Given the description of an element on the screen output the (x, y) to click on. 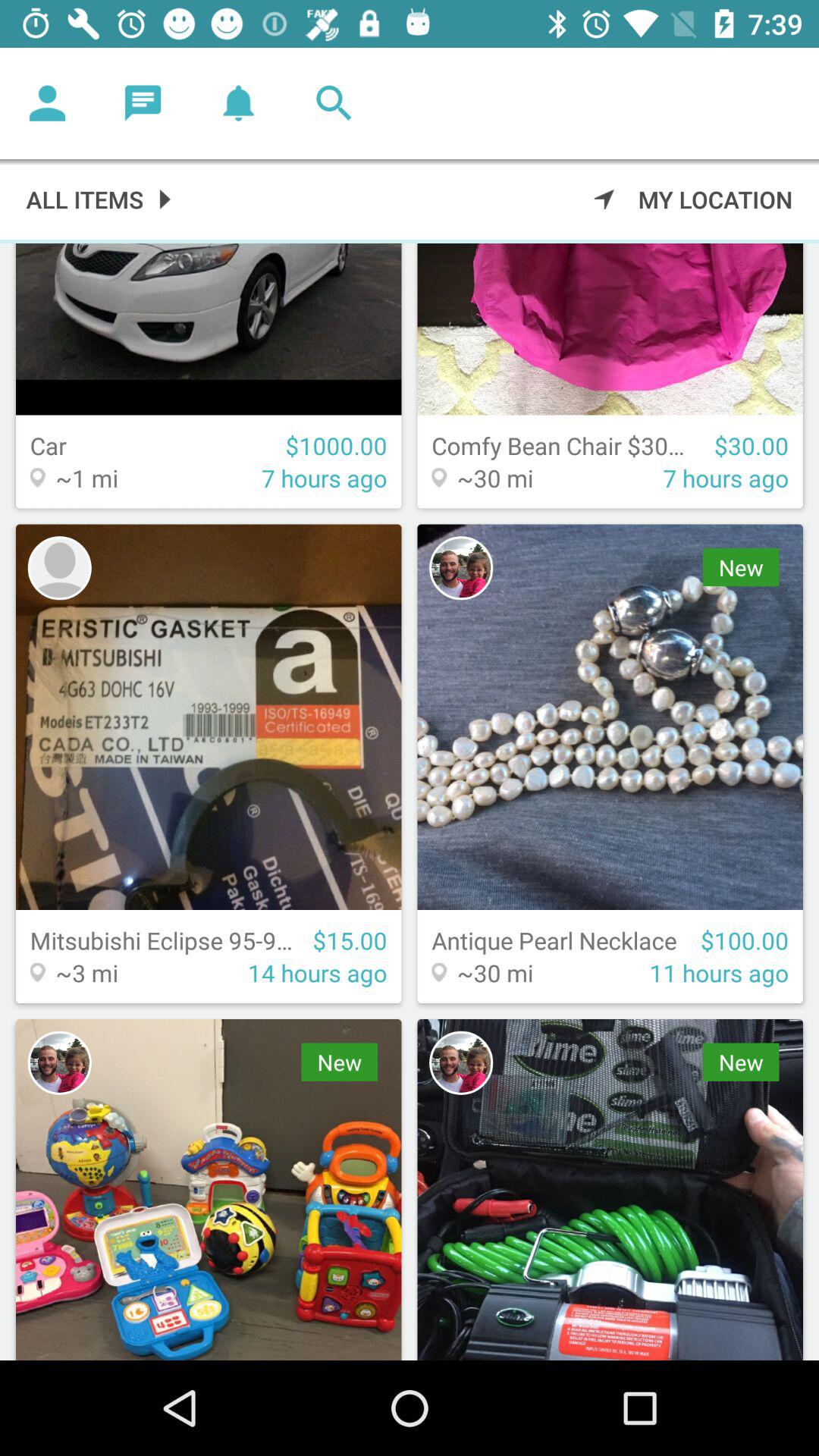
my profile (47, 103)
